Given the description of an element on the screen output the (x, y) to click on. 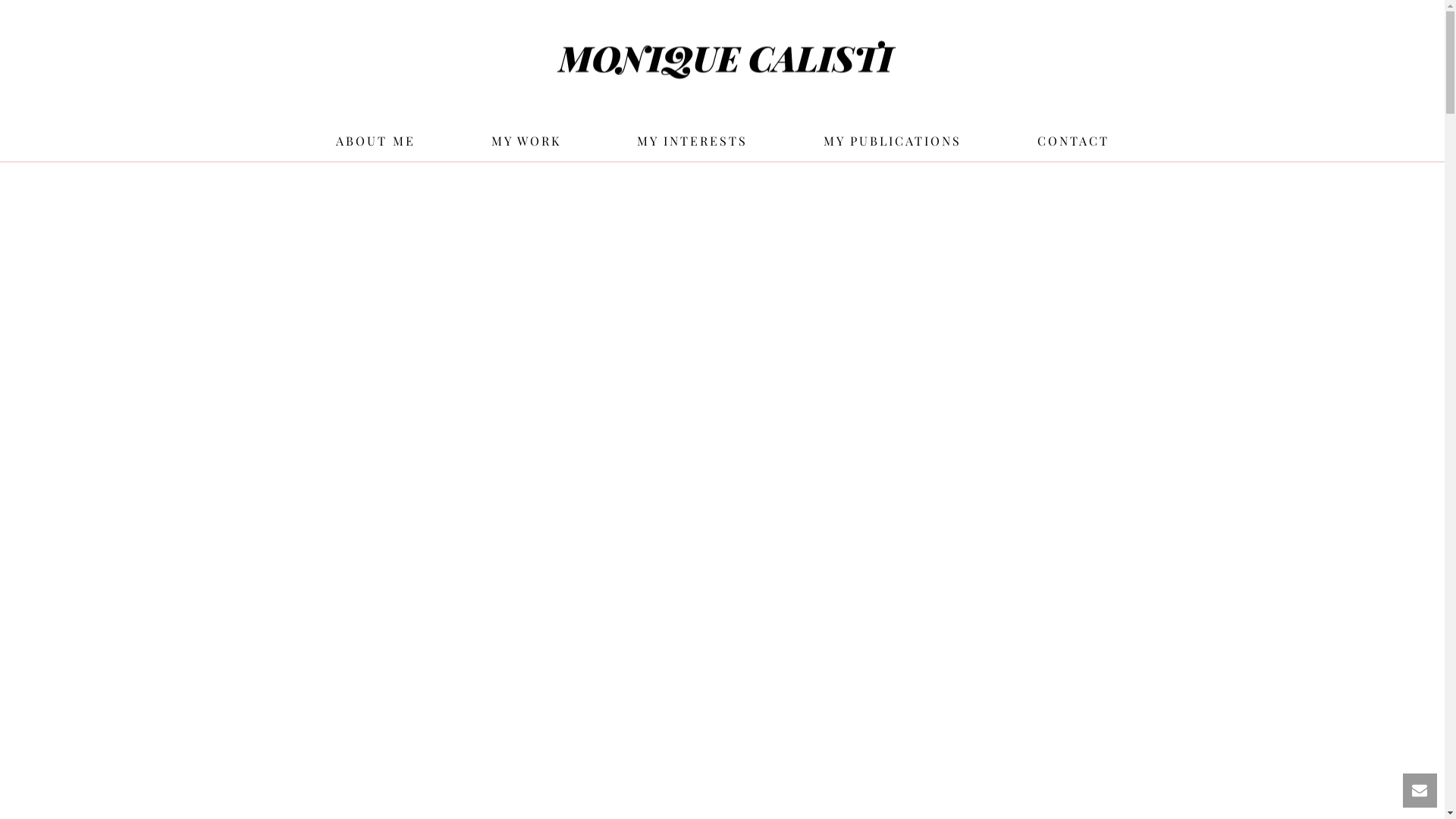
Monique Calisti Element type: hover (721, 60)
MY WORK Element type: text (526, 141)
CONTACT Element type: text (1073, 141)
MY PUBLICATIONS Element type: text (892, 141)
ABOUT ME Element type: text (374, 141)
MY INTERESTS Element type: text (692, 141)
